Given the description of an element on the screen output the (x, y) to click on. 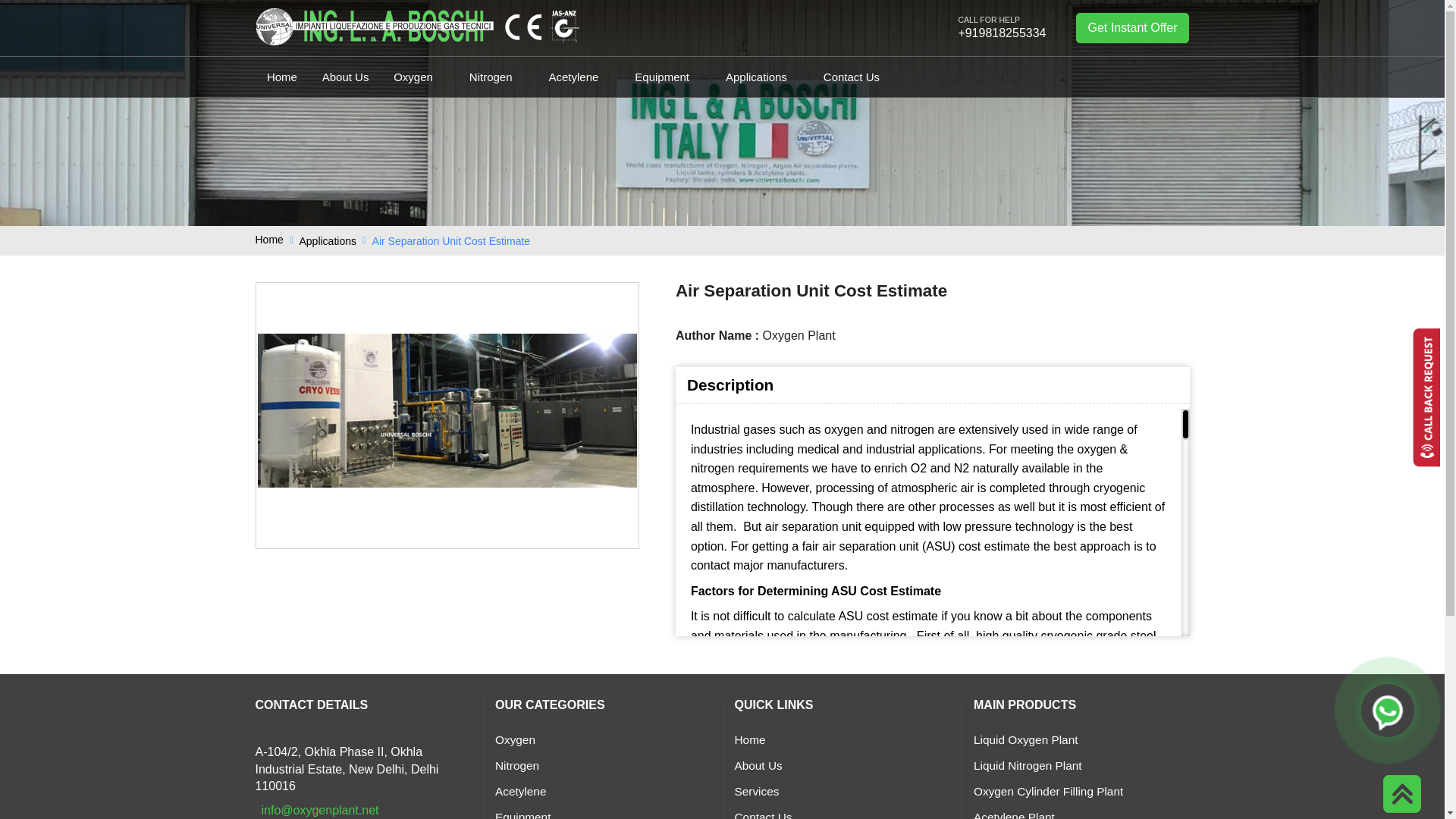
Acetylene (579, 76)
Home (281, 76)
Acetylene (579, 76)
Equipment (668, 76)
Home (268, 239)
Get Instant Offer (1132, 28)
Applications (327, 241)
UNIVERSAL OXYGEN PLANT (374, 25)
Equipment (668, 76)
About Us (345, 76)
